Given the description of an element on the screen output the (x, y) to click on. 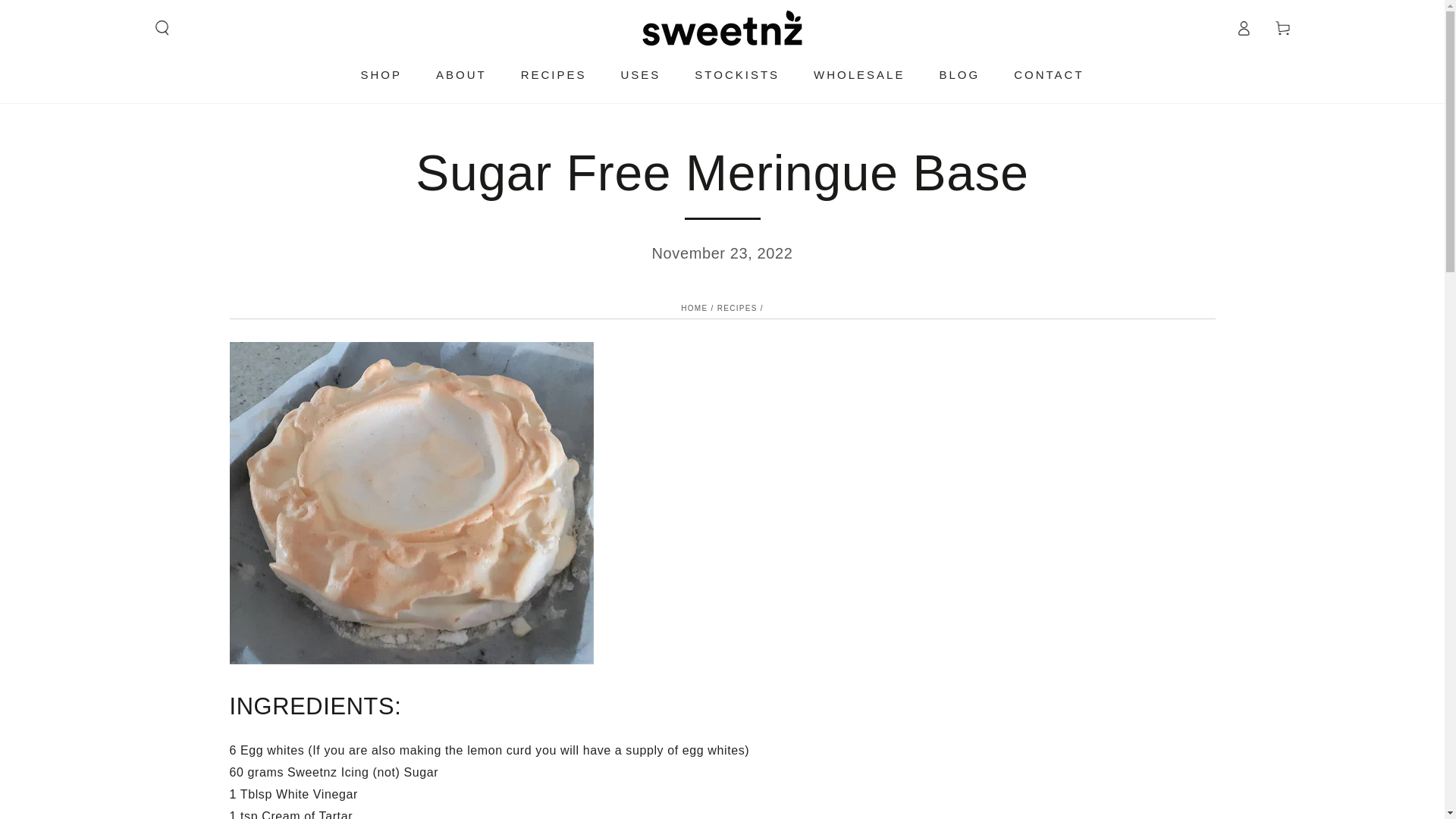
Back to the frontpage (694, 307)
SKIP TO CONTENT (67, 14)
